Given the description of an element on the screen output the (x, y) to click on. 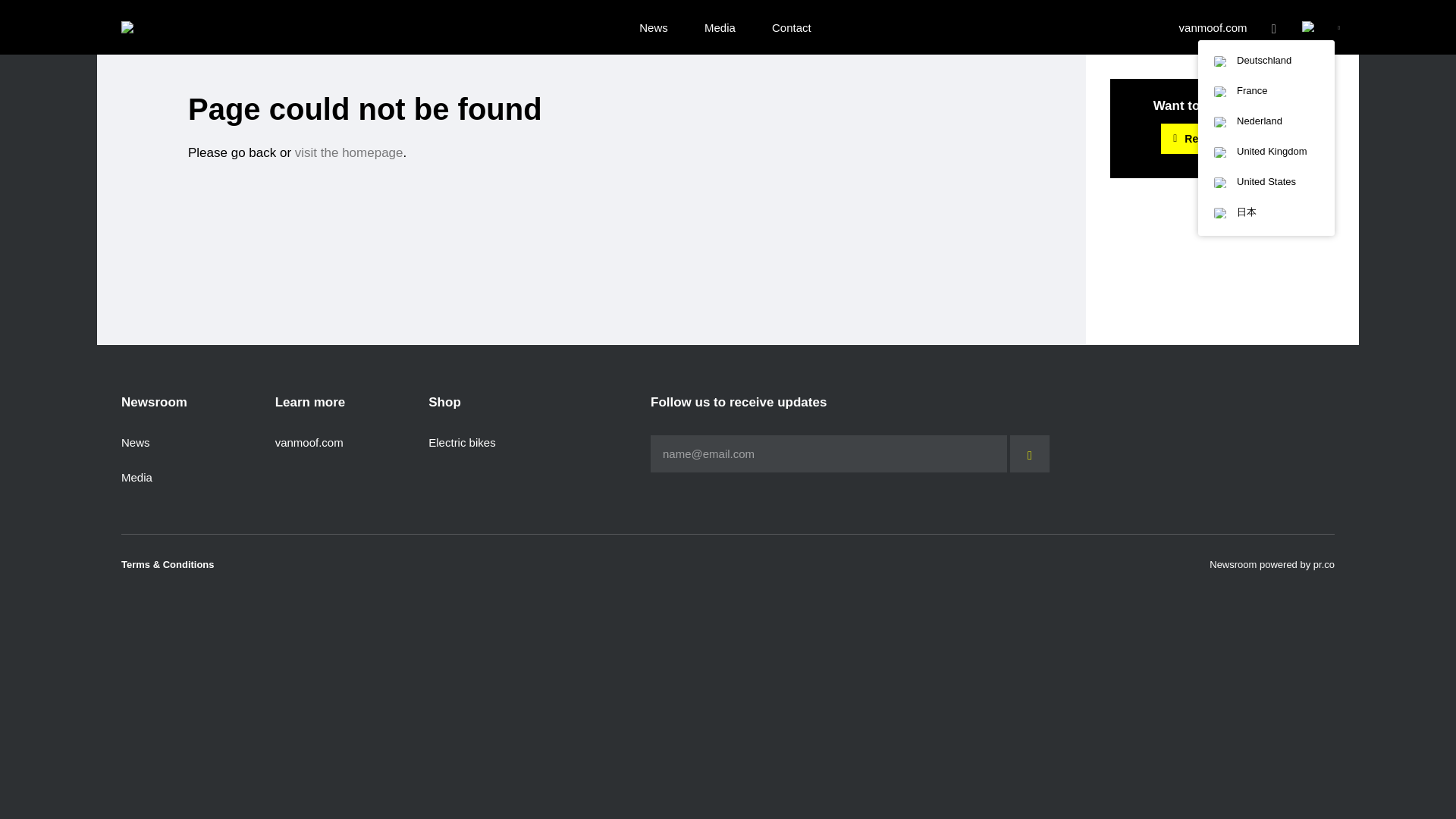
Newsroom powered by pr.co (1272, 564)
vanmoof.com (1213, 28)
Deutschland (1266, 60)
News (653, 28)
Contact (790, 28)
United Kingdom (1266, 151)
vanmoof.com (309, 441)
Request a review (1222, 138)
United States (1266, 181)
visit the homepage (349, 152)
Media (719, 28)
News (134, 441)
France (1266, 90)
Media (136, 477)
Electric bikes (461, 441)
